Given the description of an element on the screen output the (x, y) to click on. 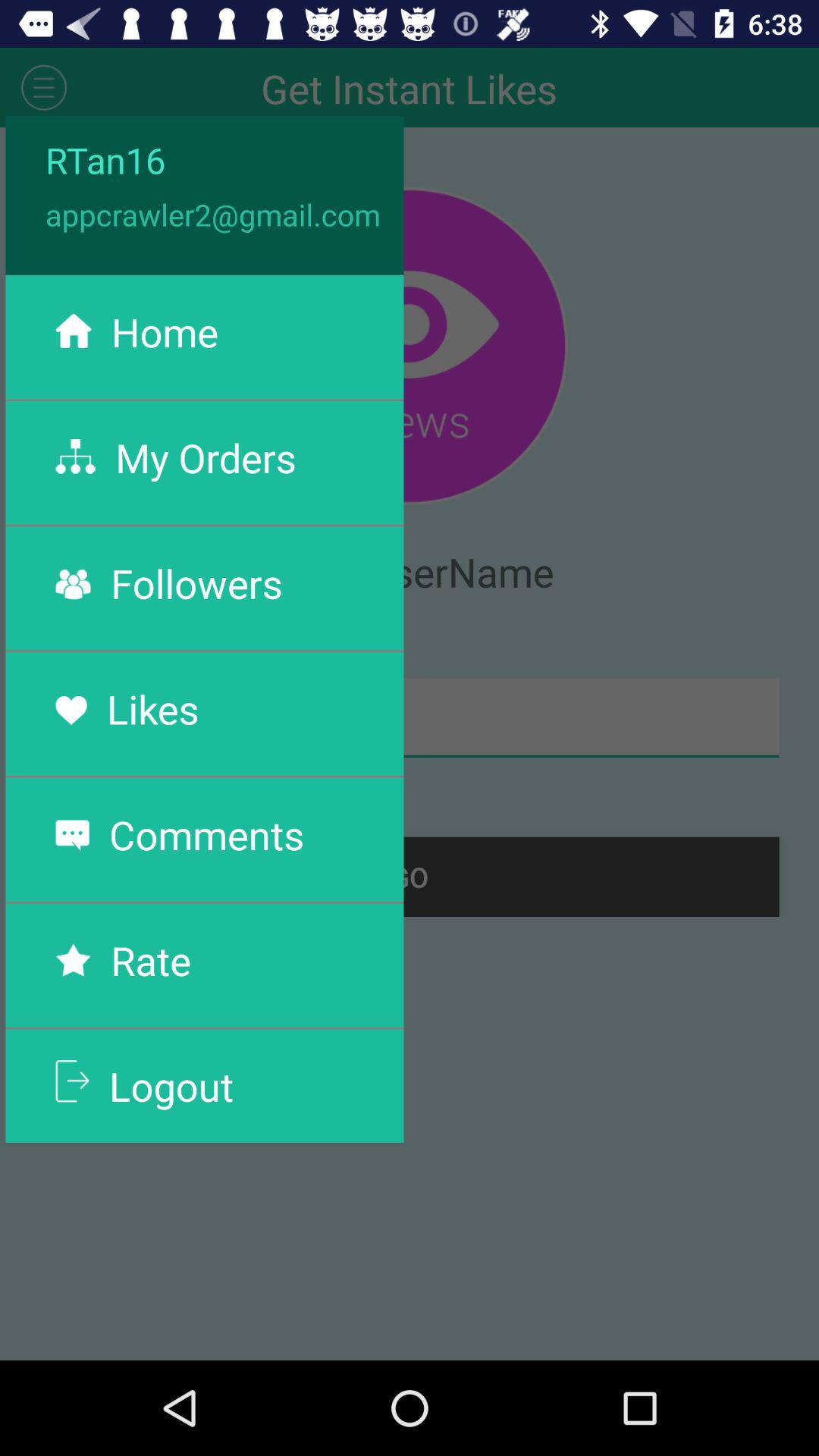
press my orders icon (205, 457)
